Given the description of an element on the screen output the (x, y) to click on. 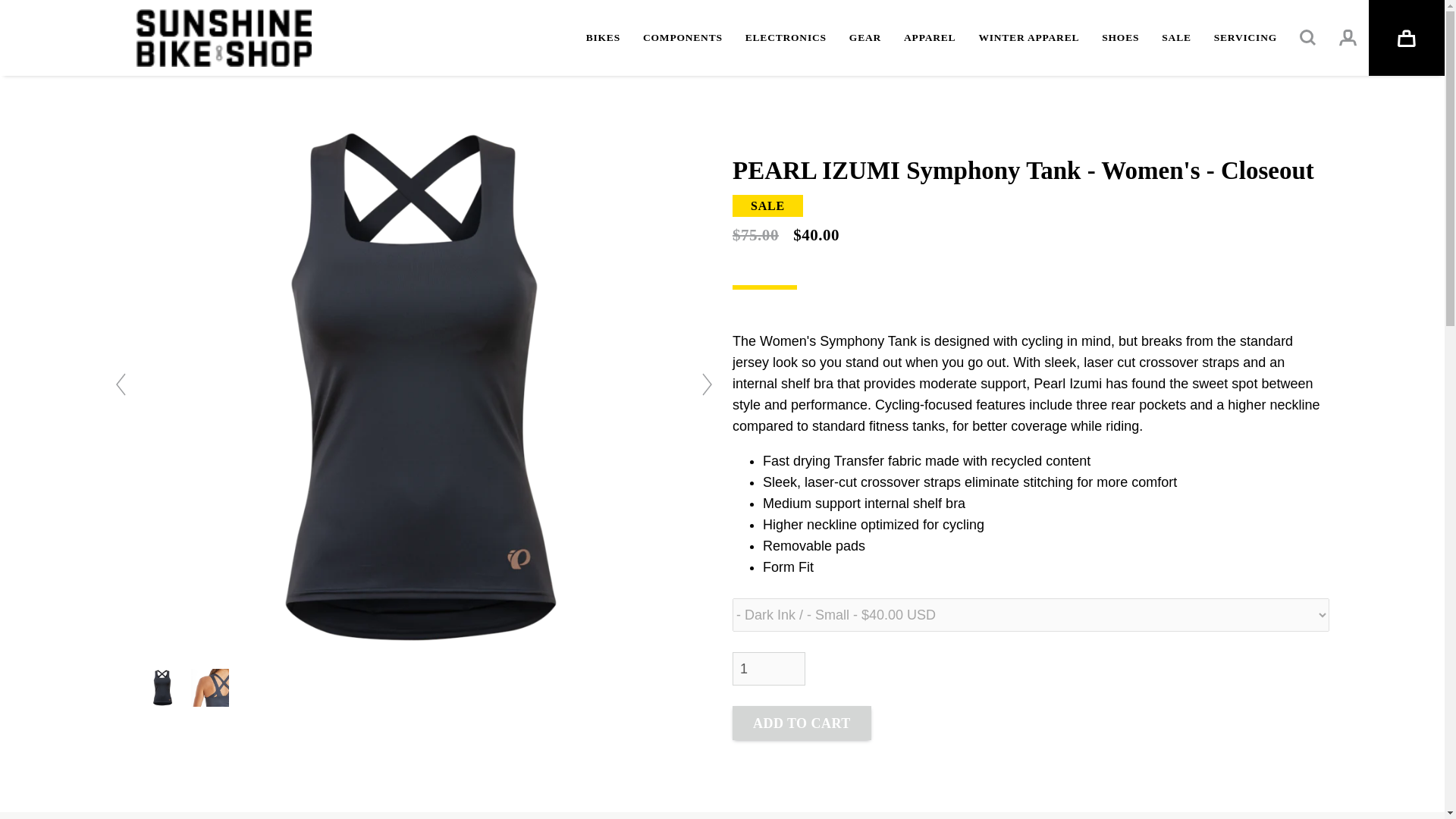
1 (768, 668)
COMPONENTS (682, 38)
